Given the description of an element on the screen output the (x, y) to click on. 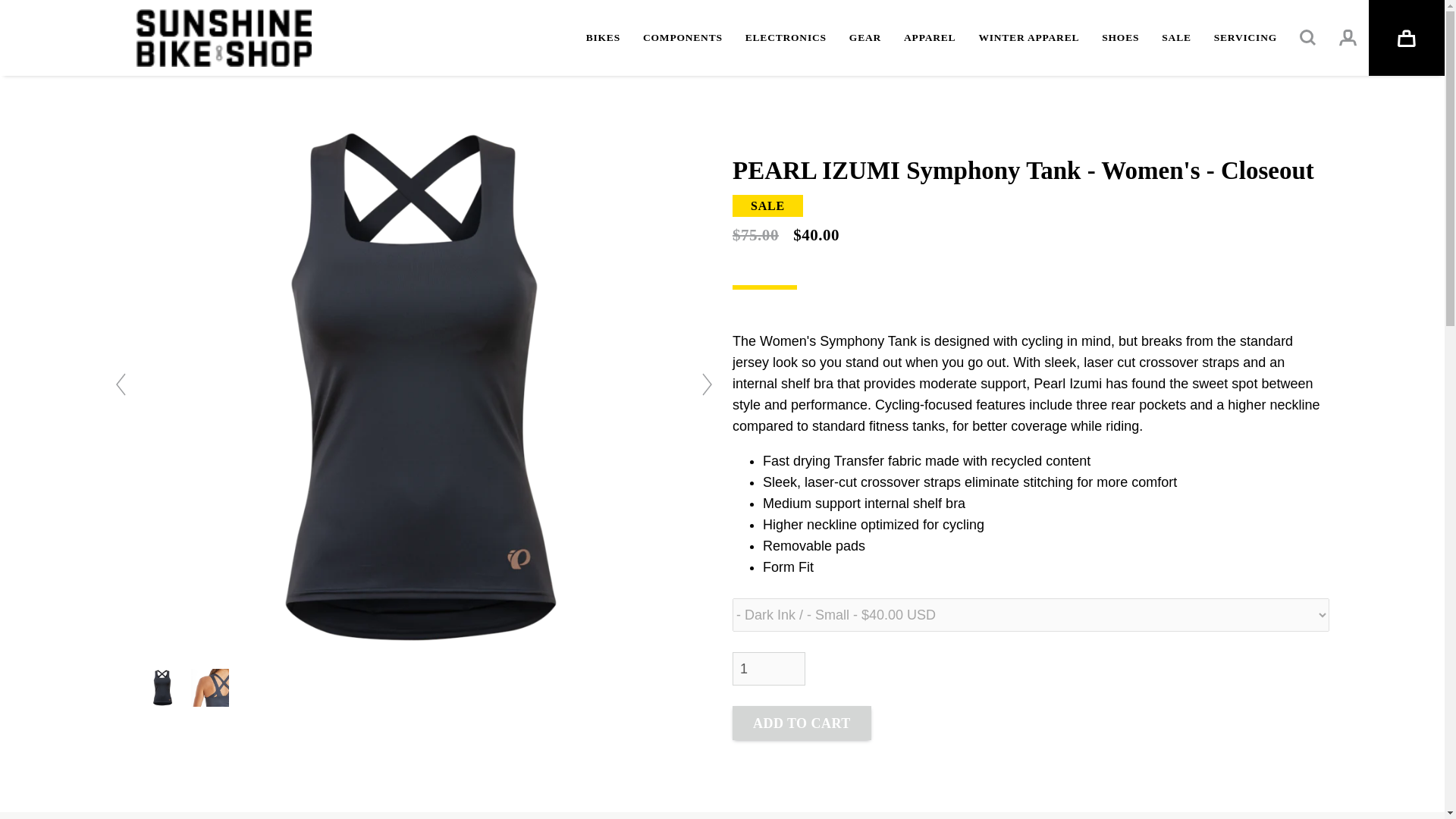
1 (768, 668)
COMPONENTS (682, 38)
